Given the description of an element on the screen output the (x, y) to click on. 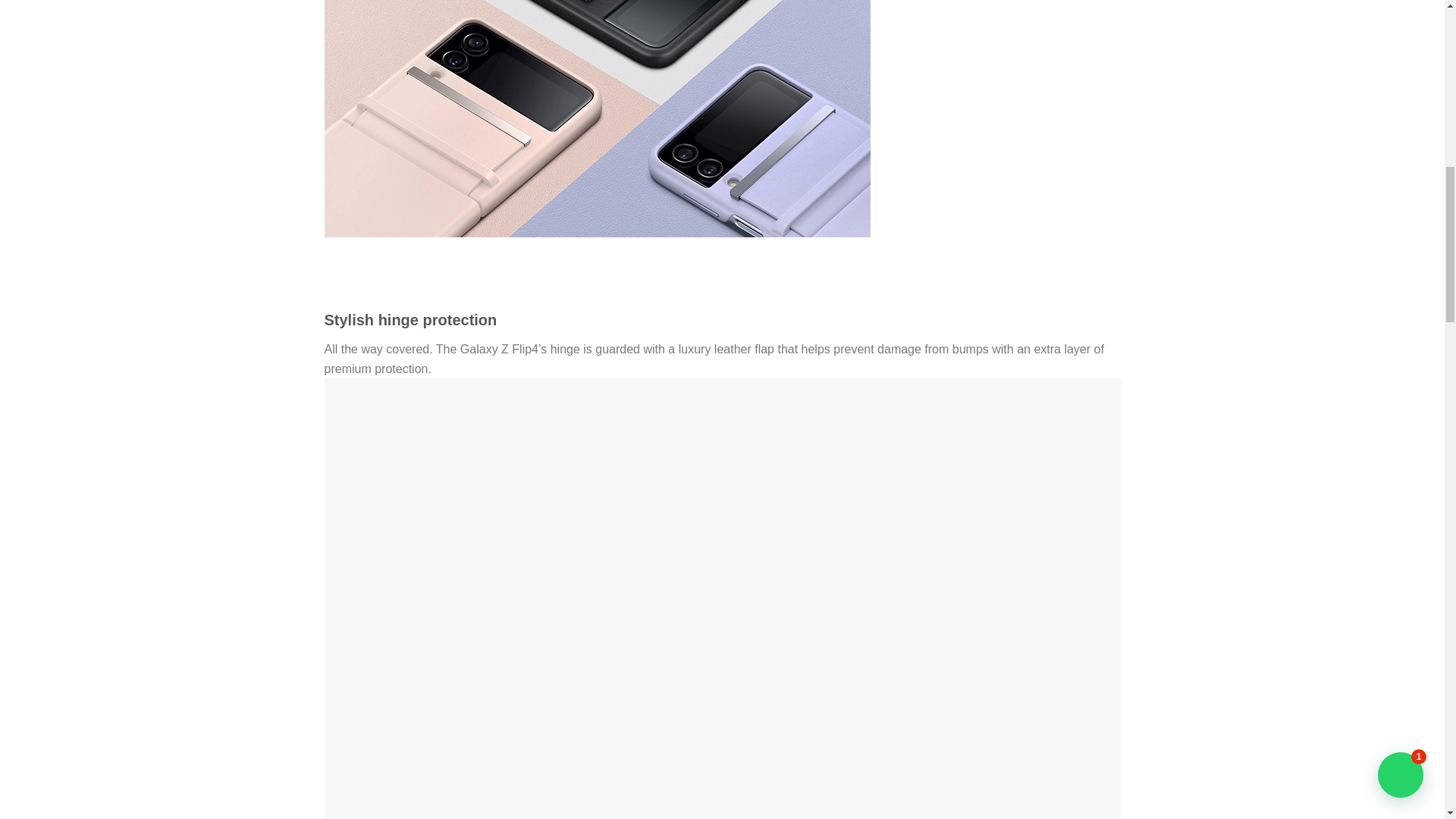
Samsung Galaxy Z Flip4 Flap Leather Cover (597, 118)
